Given the description of an element on the screen output the (x, y) to click on. 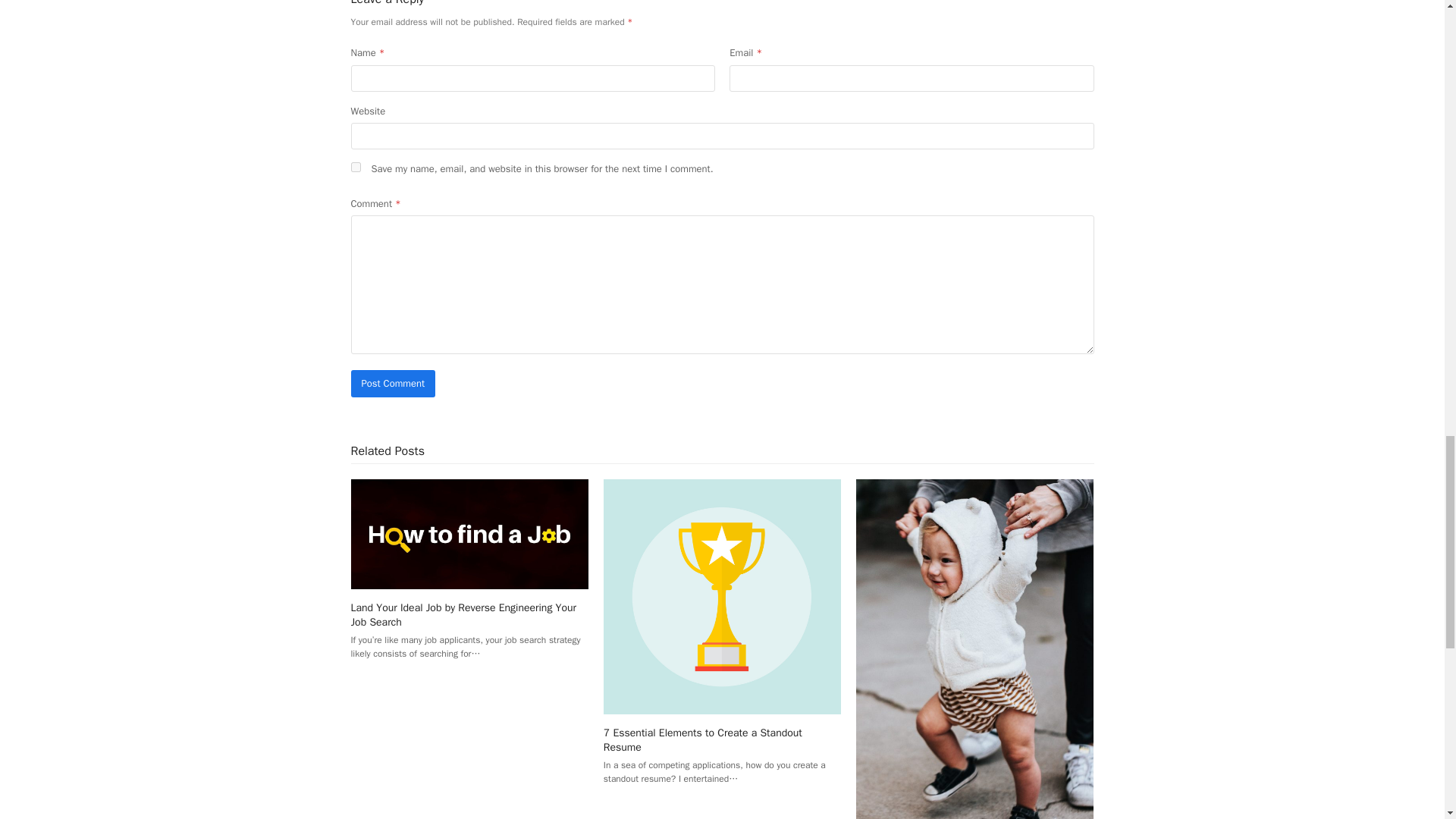
Land Your Ideal Job by Reverse Engineering Your Job Search (469, 532)
7 Essential Elements to Create a Standout Resume (722, 594)
Land Your Ideal Job by Reverse Engineering Your Job Search (463, 614)
7 Essential Elements to Create a Standout Resume (703, 739)
Networking Tips for Job Seekers: Start with Baby Steps (974, 664)
yes (354, 166)
Post Comment (392, 383)
Post Comment (392, 383)
